Given the description of an element on the screen output the (x, y) to click on. 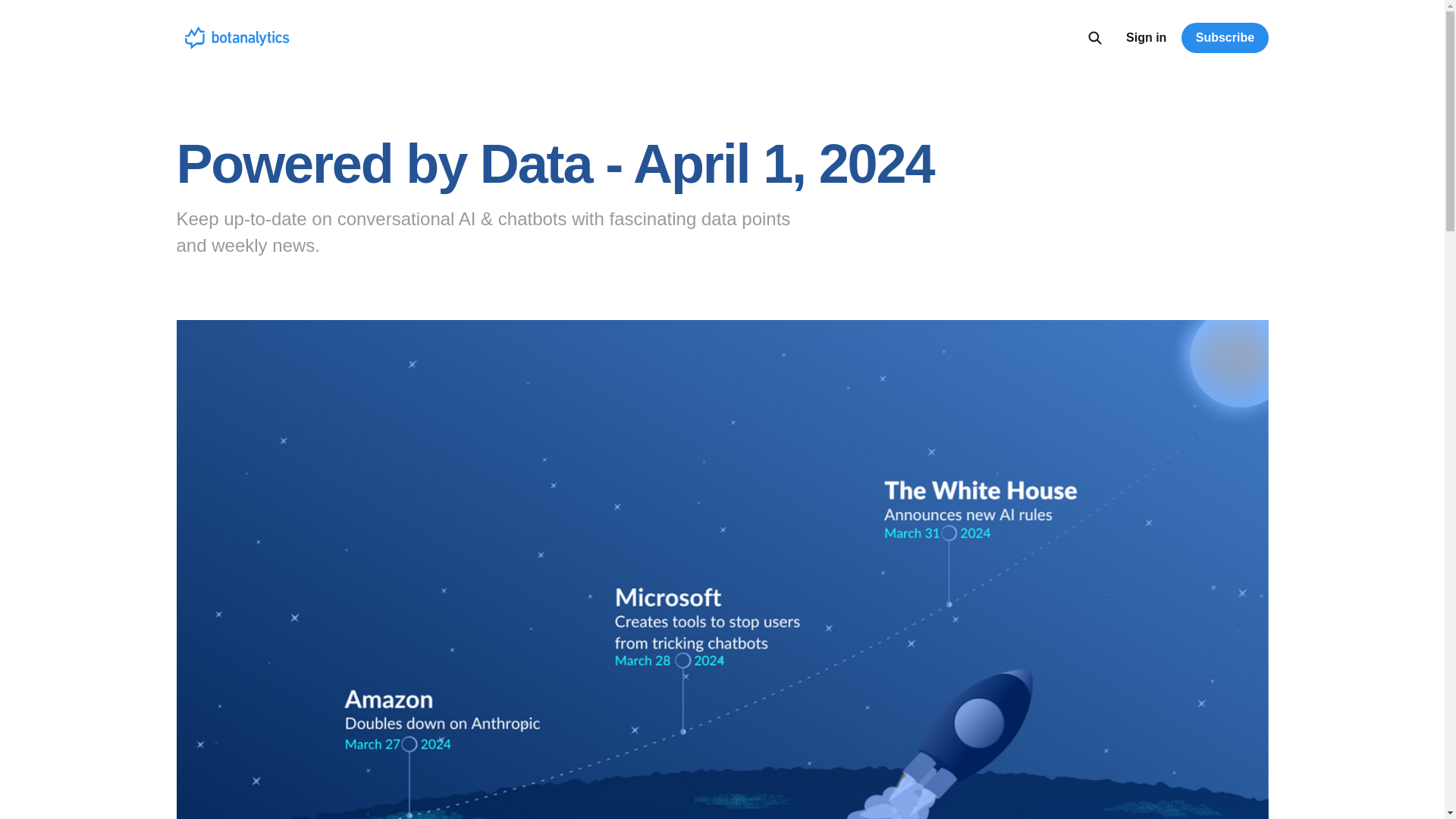
Sign in (1145, 37)
Subscribe (1224, 37)
